Given the description of an element on the screen output the (x, y) to click on. 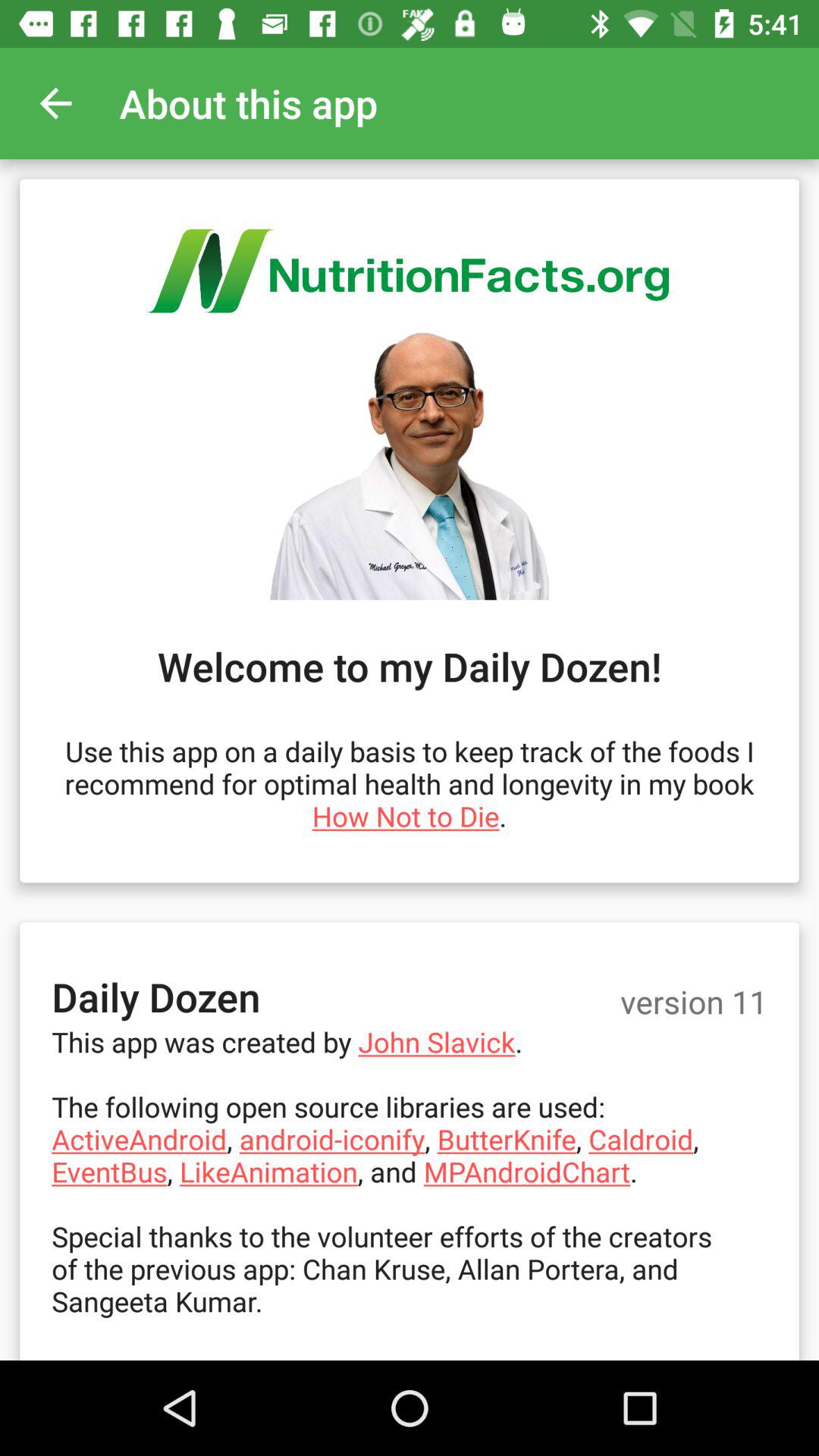
select the app to the left of the about this app (55, 103)
